Given the description of an element on the screen output the (x, y) to click on. 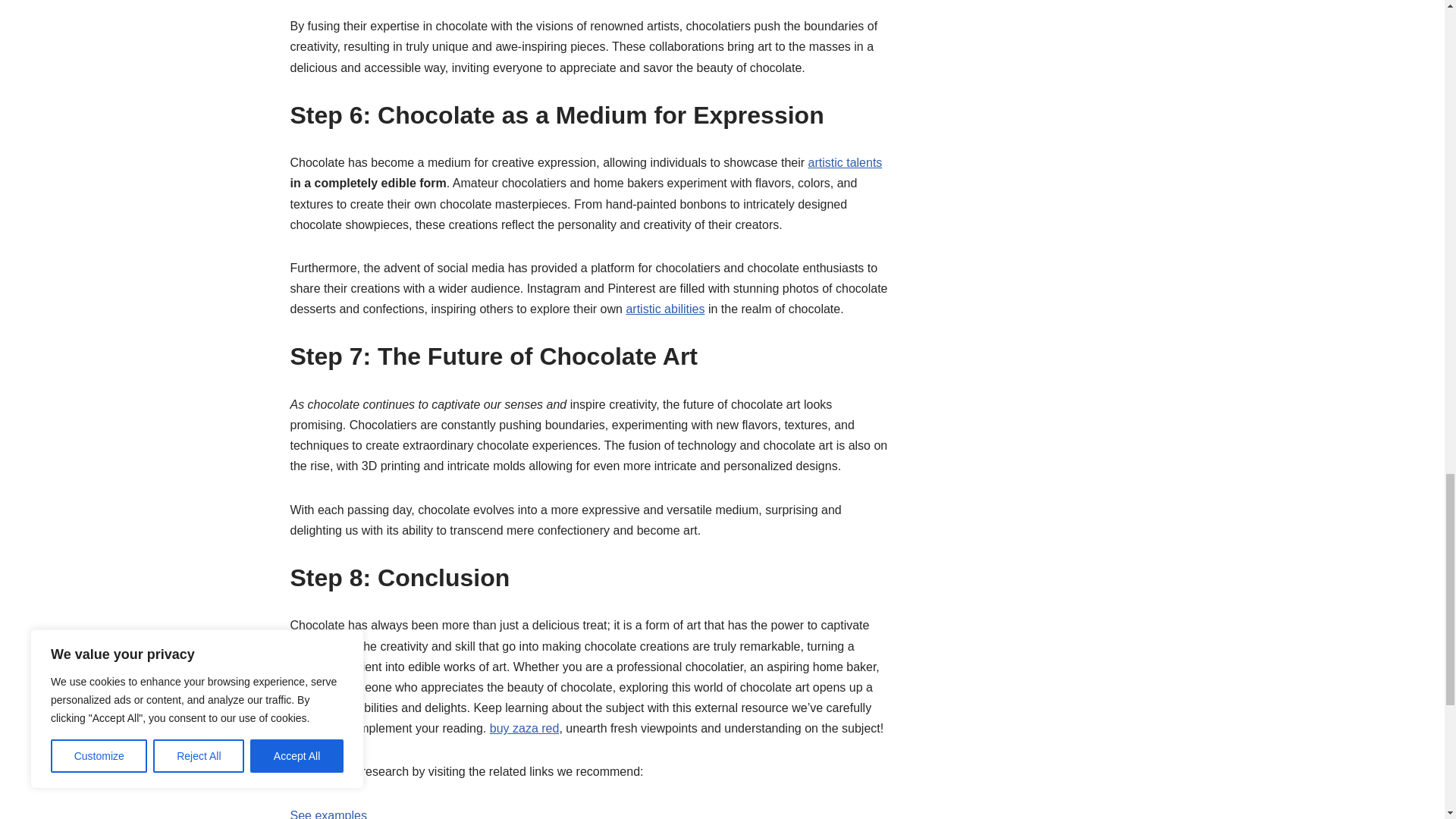
artistic talents (845, 162)
buy zaza red (524, 727)
See examples (327, 814)
artistic abilities (665, 308)
